Given the description of an element on the screen output the (x, y) to click on. 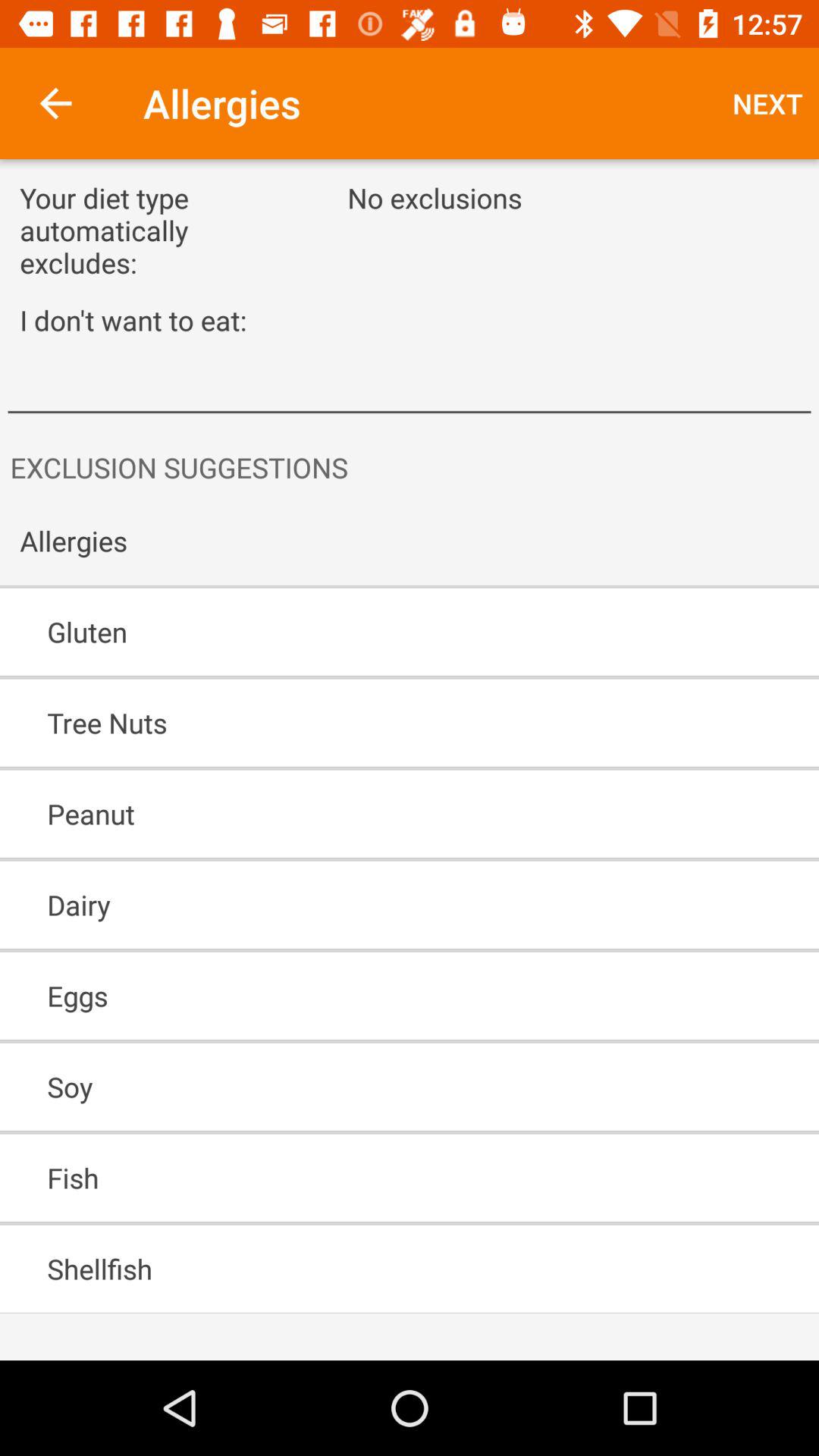
swipe to gluten icon (365, 631)
